Given the description of an element on the screen output the (x, y) to click on. 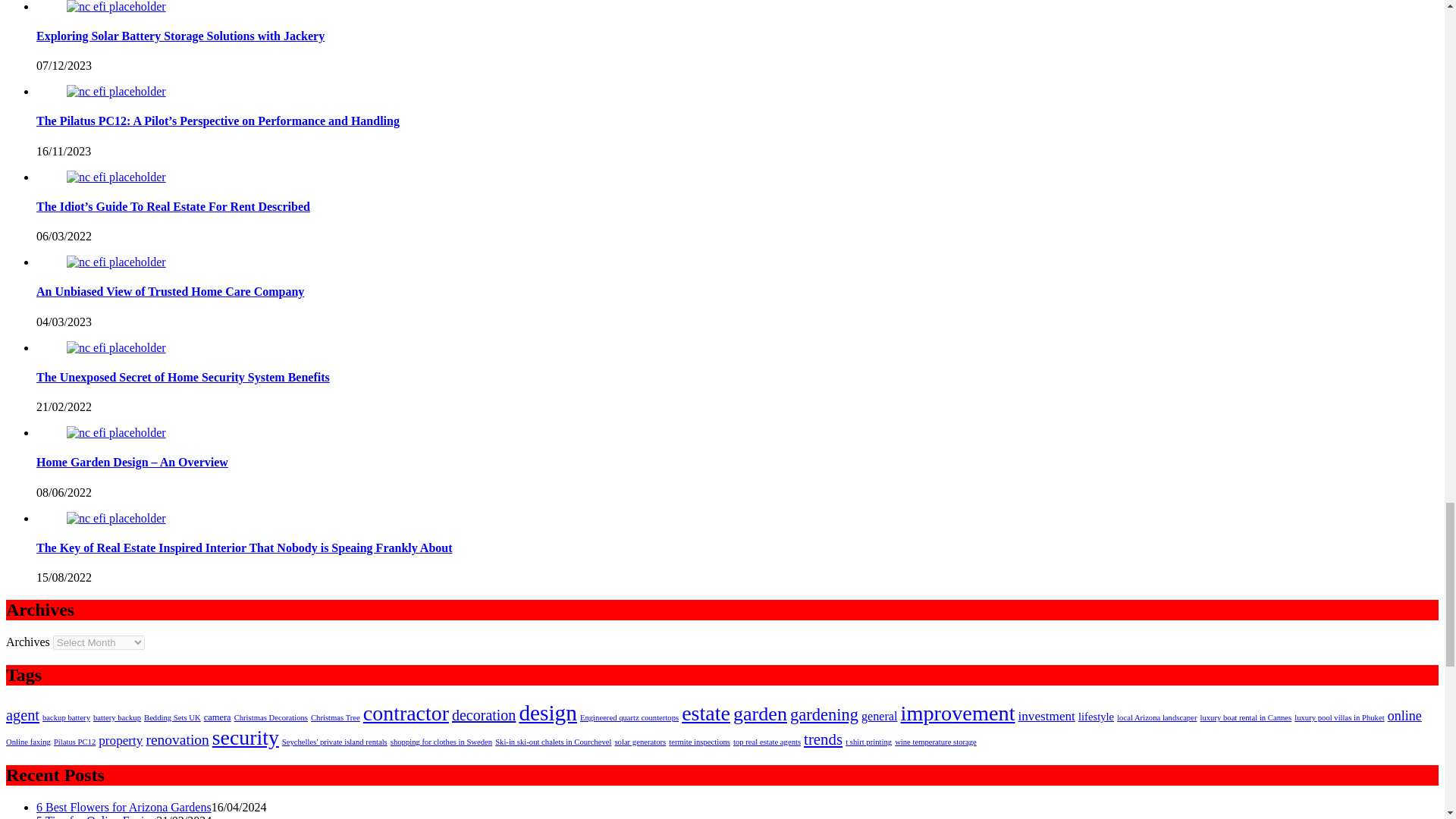
Exploring Solar Battery Storage Solutions with Jackery (115, 6)
The Idiot's Guide To Real Estate For Rent Described (115, 177)
